Given the description of an element on the screen output the (x, y) to click on. 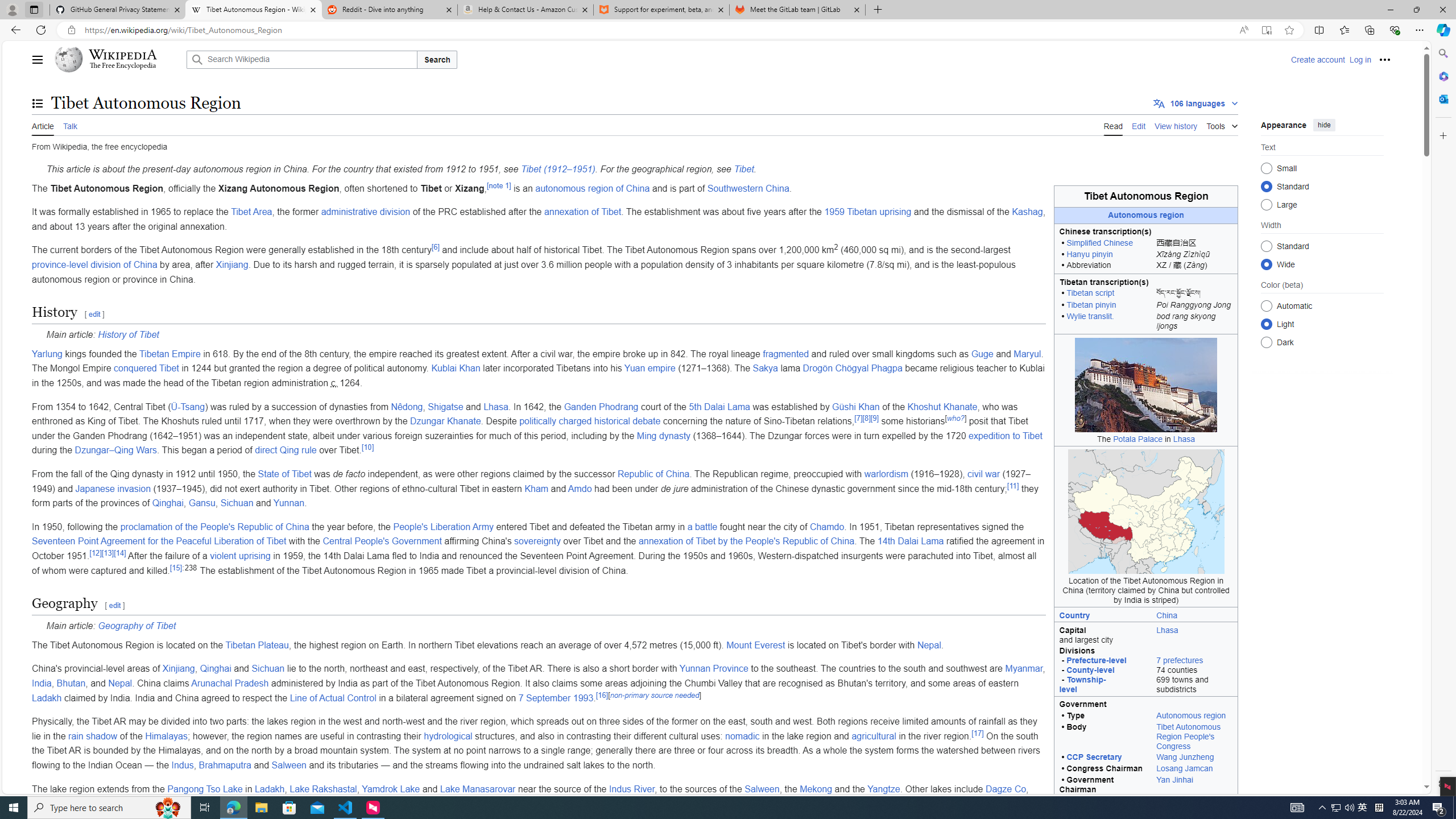
Main menu (37, 59)
Gansu (201, 502)
Amdo (579, 488)
Class: mw-list-item mw-list-item-js (1321, 323)
Create account (1317, 58)
Wang Junzheng (1185, 757)
Country (1074, 614)
Himalayas (166, 735)
China (1194, 614)
Government (1145, 703)
Ming dynasty (663, 435)
Wikipedia The Free Encyclopedia (117, 59)
Ladakh (269, 788)
